Given the description of an element on the screen output the (x, y) to click on. 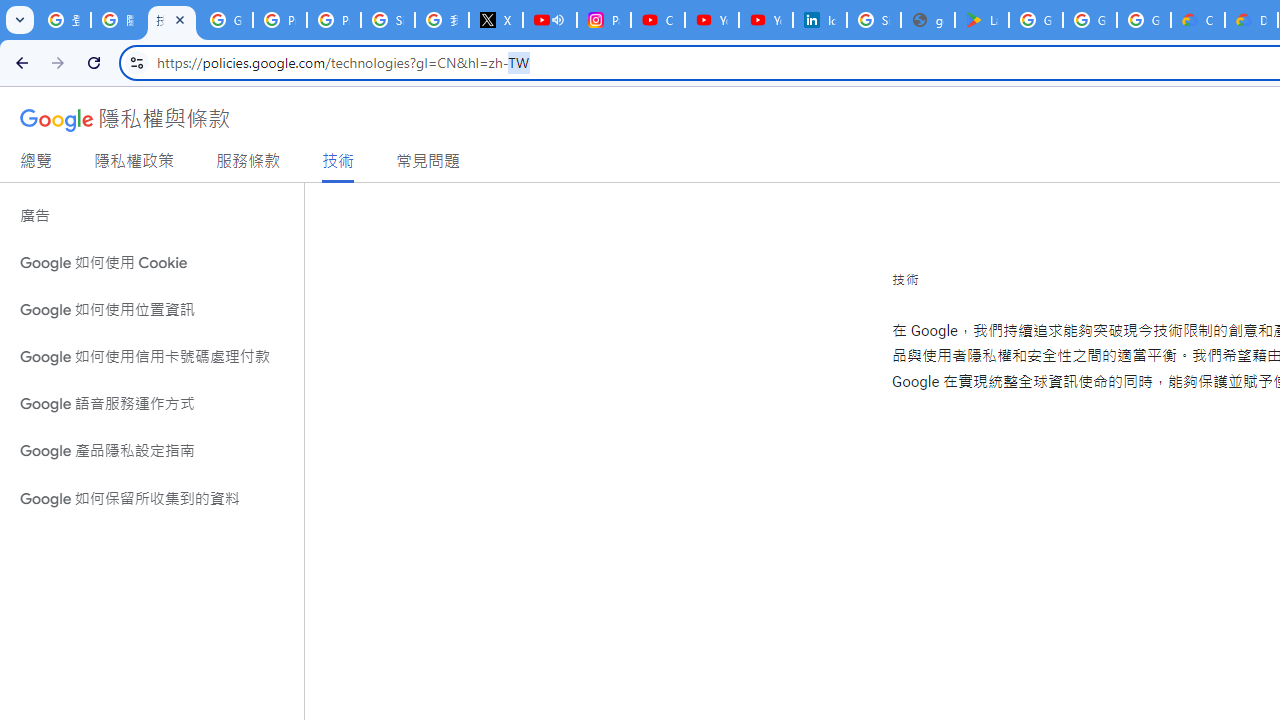
Sign in - Google Accounts (874, 20)
Google Workspace - Specific Terms (1144, 20)
Privacy Help Center - Policies Help (333, 20)
Customer Care | Google Cloud (1197, 20)
Mute tab (557, 20)
